Given the description of an element on the screen output the (x, y) to click on. 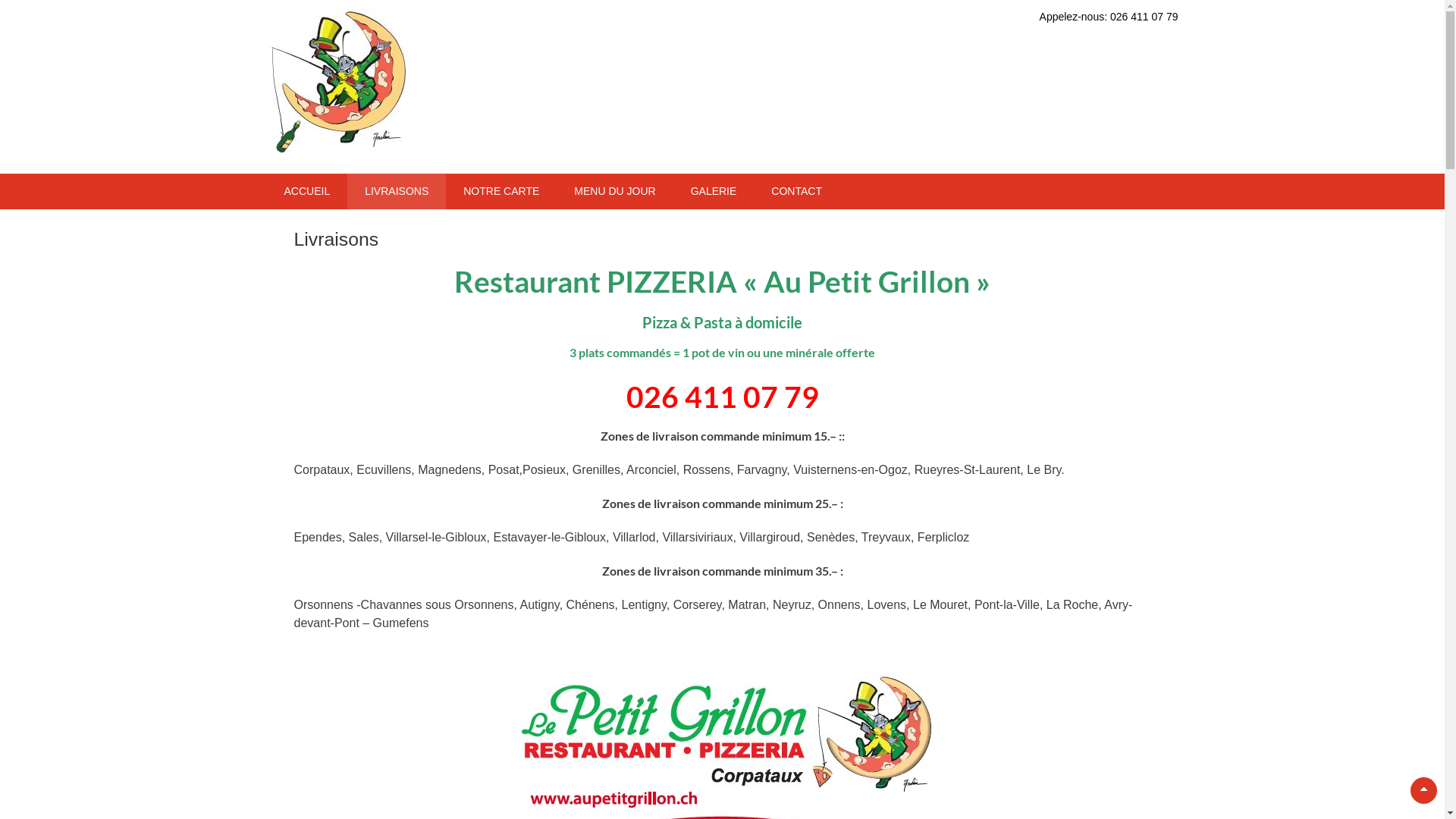
CONTACT Element type: text (796, 191)
NOTRE CARTE Element type: text (500, 191)
LIVRAISONS Element type: text (396, 191)
ACCUEIL Element type: text (307, 191)
GALERIE Element type: text (713, 191)
MENU DU JOUR Element type: text (614, 191)
